Given the description of an element on the screen output the (x, y) to click on. 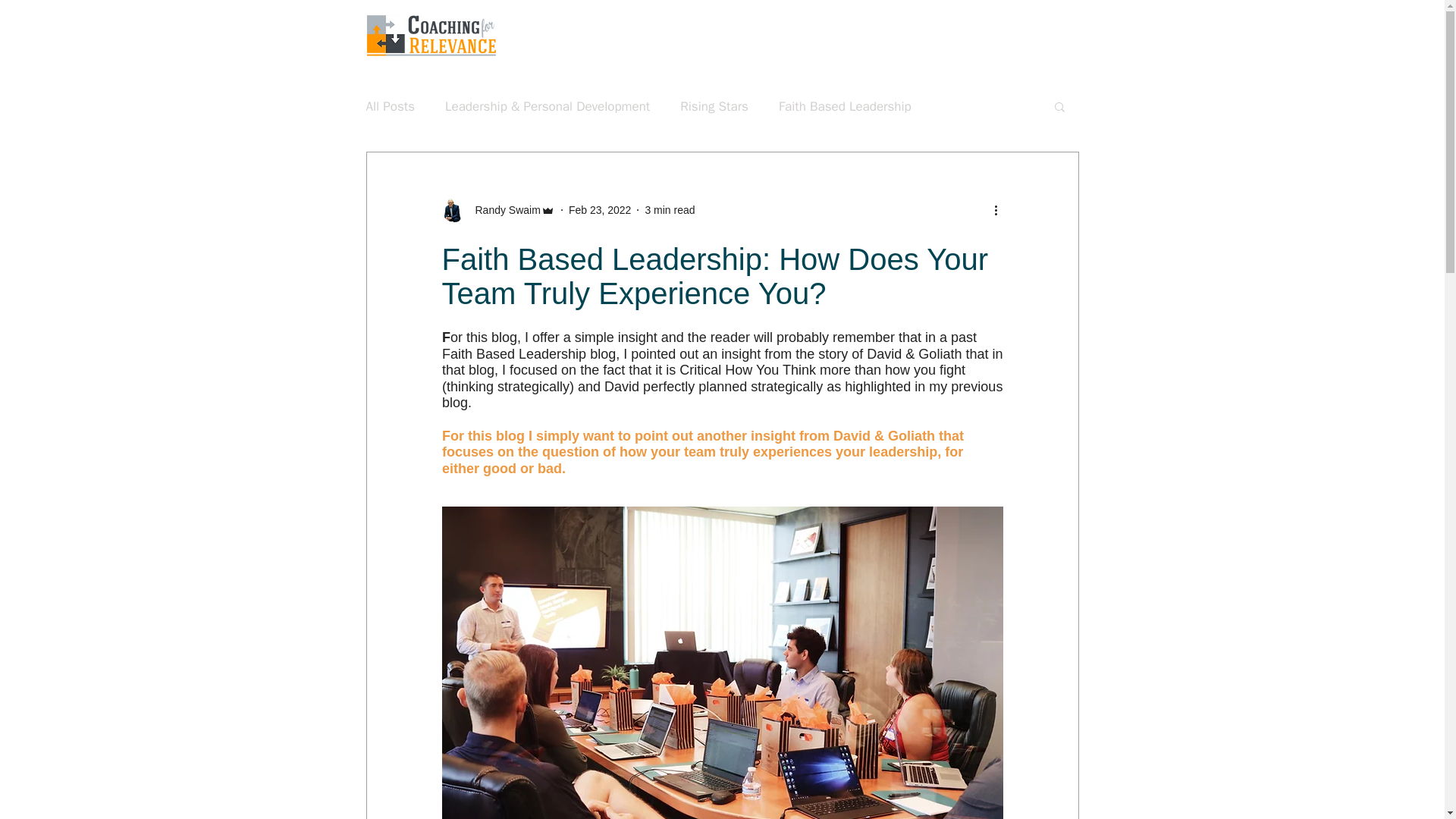
BLOG (968, 34)
Rising Stars (713, 105)
3 min read (669, 209)
BOOKINGS (1035, 34)
CONTACT (906, 34)
Feb 23, 2022 (600, 209)
SERVICES (770, 34)
BOOK LAUNCH EVENT (664, 34)
Randy Swaim (497, 209)
ABOUT (839, 34)
